Given the description of an element on the screen output the (x, y) to click on. 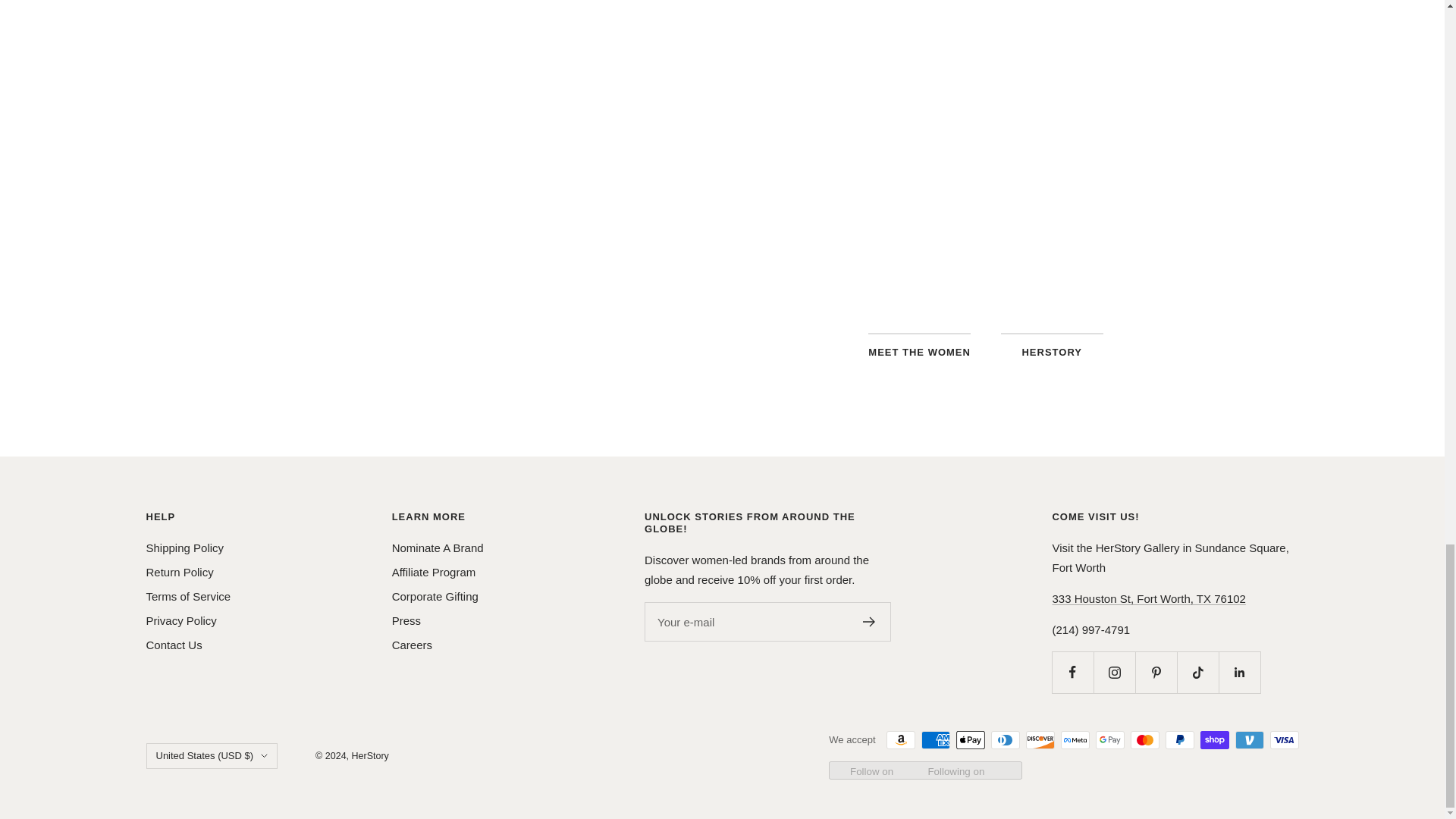
Register (869, 621)
